Given the description of an element on the screen output the (x, y) to click on. 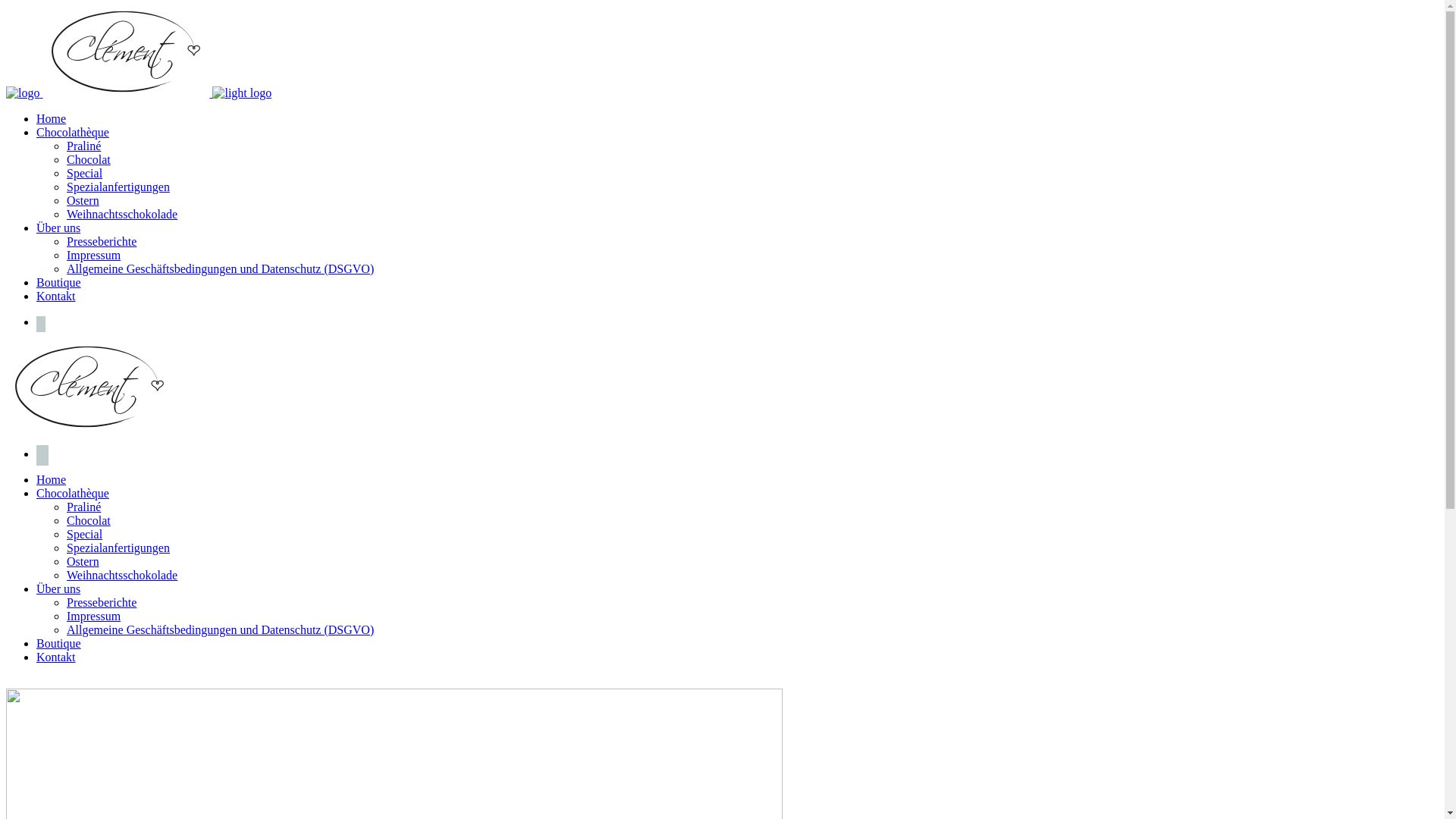
Presseberichte Element type: text (101, 241)
Home Element type: text (50, 118)
Chocolat Element type: text (88, 159)
Kontakt Element type: text (55, 295)
Boutique Element type: text (58, 282)
Presseberichte Element type: text (101, 602)
Boutique Element type: text (58, 643)
Spezialanfertigungen Element type: text (117, 547)
Home Element type: text (50, 479)
Chocolat Element type: text (88, 520)
Impressum Element type: text (93, 615)
Impressum Element type: text (93, 254)
Ostern Element type: text (82, 561)
Weihnachtsschokolade Element type: text (121, 574)
Kontakt Element type: text (55, 656)
Ostern Element type: text (82, 200)
Spezialanfertigungen Element type: text (117, 186)
Special Element type: text (84, 172)
instagram Element type: text (40, 321)
Weihnachtsschokolade Element type: text (121, 213)
instagram Element type: text (42, 453)
Special Element type: text (84, 533)
